Given the description of an element on the screen output the (x, y) to click on. 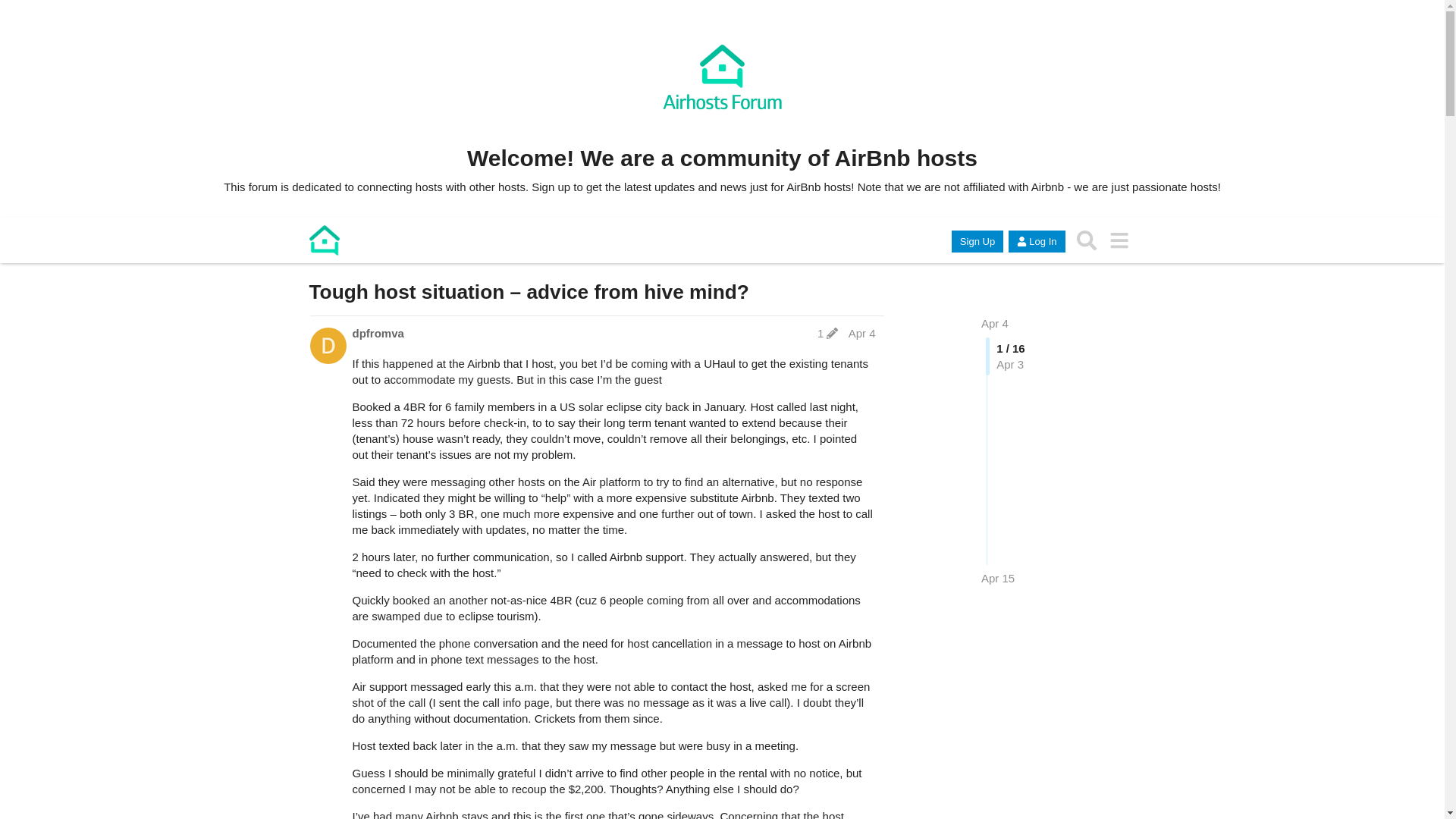
menu (1119, 240)
Sign Up (977, 241)
post last edited on Apr 4, 2024 1:17 am (827, 332)
Apr 4 (862, 332)
dpfromva (377, 333)
Log In (1036, 241)
Search (1086, 240)
Apr 15 (997, 578)
1 (827, 332)
Apr 4 (995, 323)
Apr 4 (995, 323)
Apr 15, 2024 5:31 am (997, 577)
Post date (862, 332)
